Given the description of an element on the screen output the (x, y) to click on. 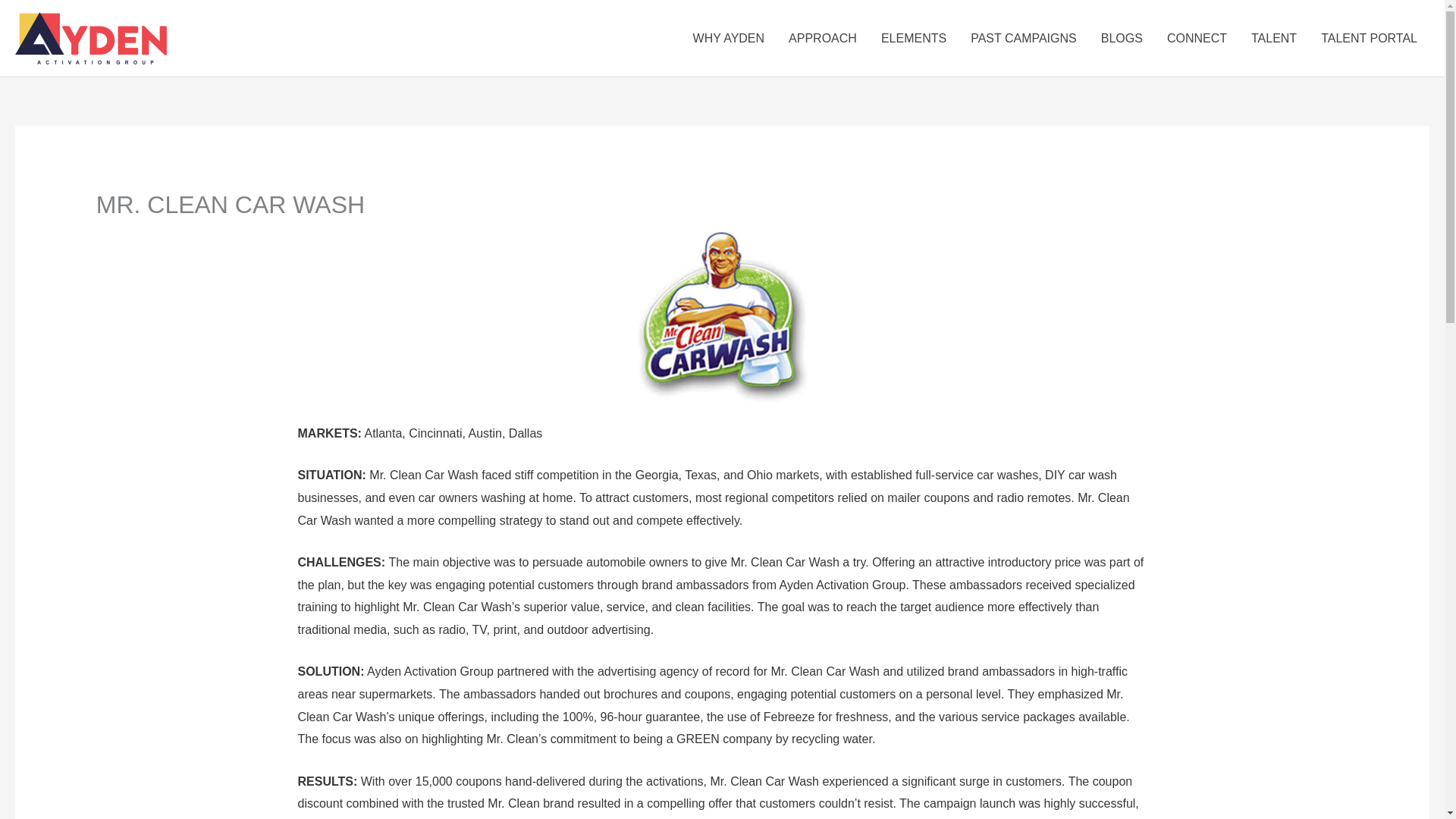
TALENT PORTAL (1368, 38)
ELEMENTS (913, 38)
PAST CAMPAIGNS (1023, 38)
WHY AYDEN (729, 38)
APPROACH (822, 38)
CONNECT (1196, 38)
TALENT (1273, 38)
BLOGS (1121, 38)
